Given the description of an element on the screen output the (x, y) to click on. 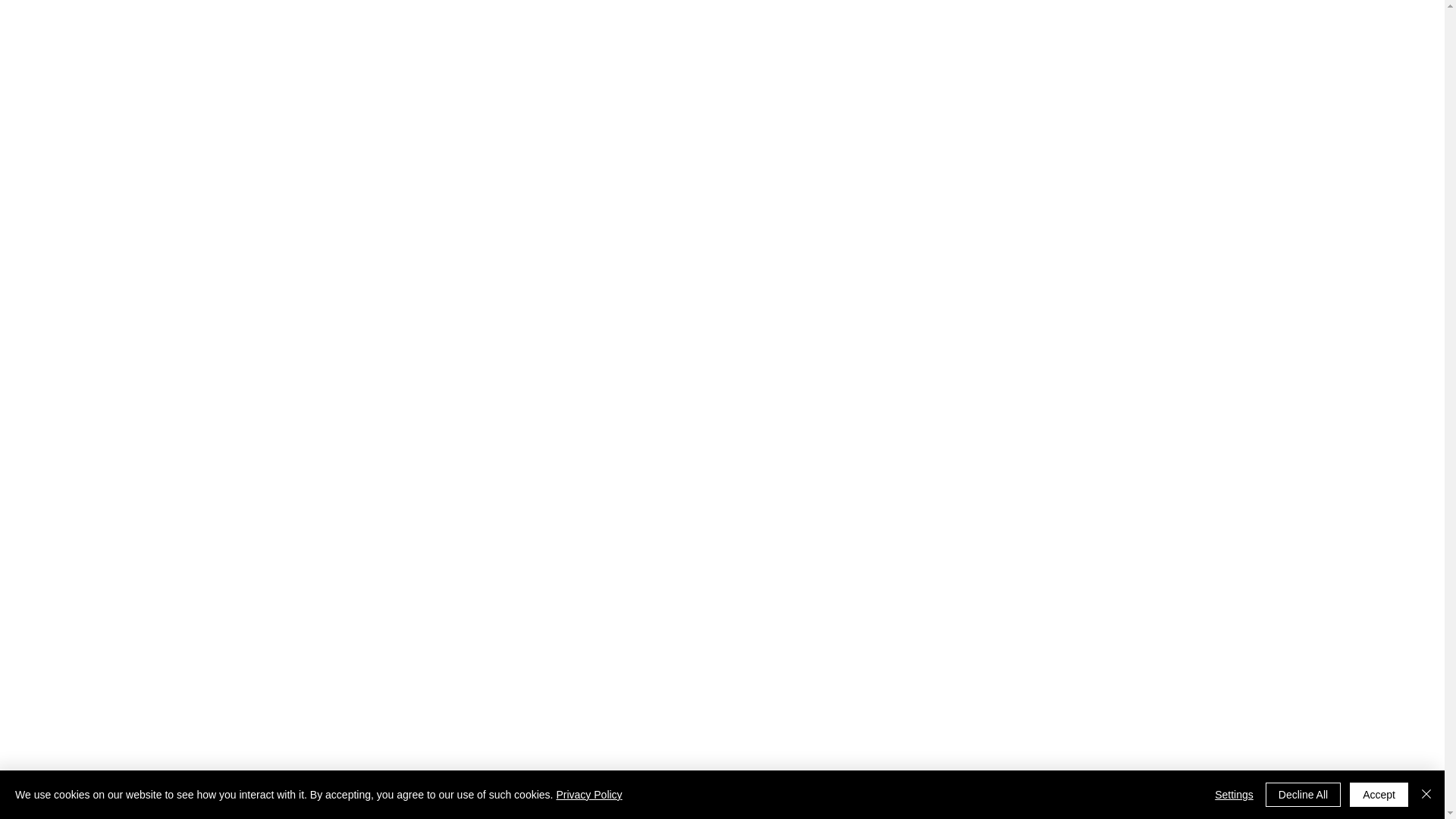
Accept (1378, 794)
Decline All (1302, 794)
Privacy Policy (588, 794)
